Given the description of an element on the screen output the (x, y) to click on. 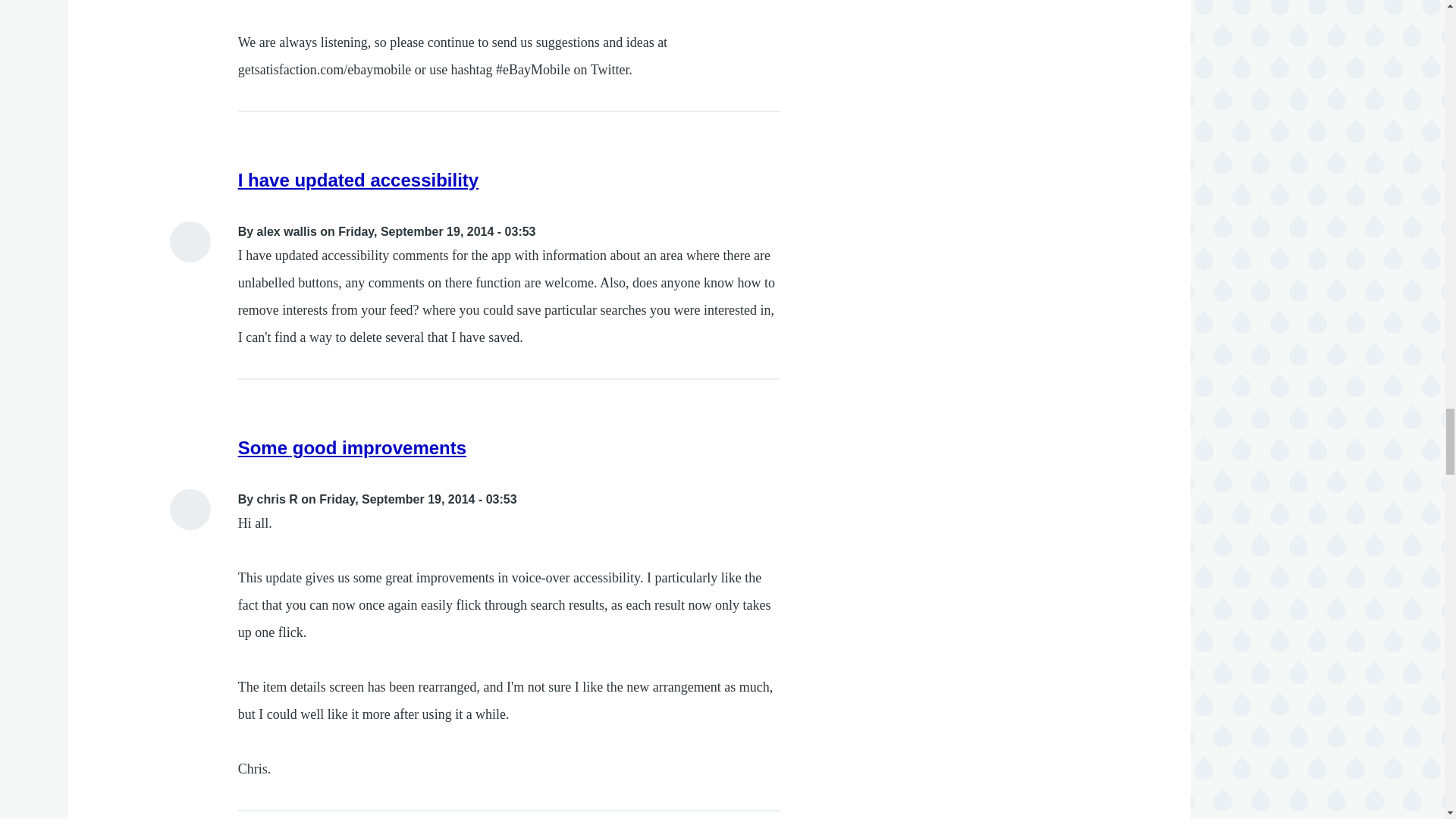
Some good improvements (351, 447)
I have updated accessibility (358, 179)
